Given the description of an element on the screen output the (x, y) to click on. 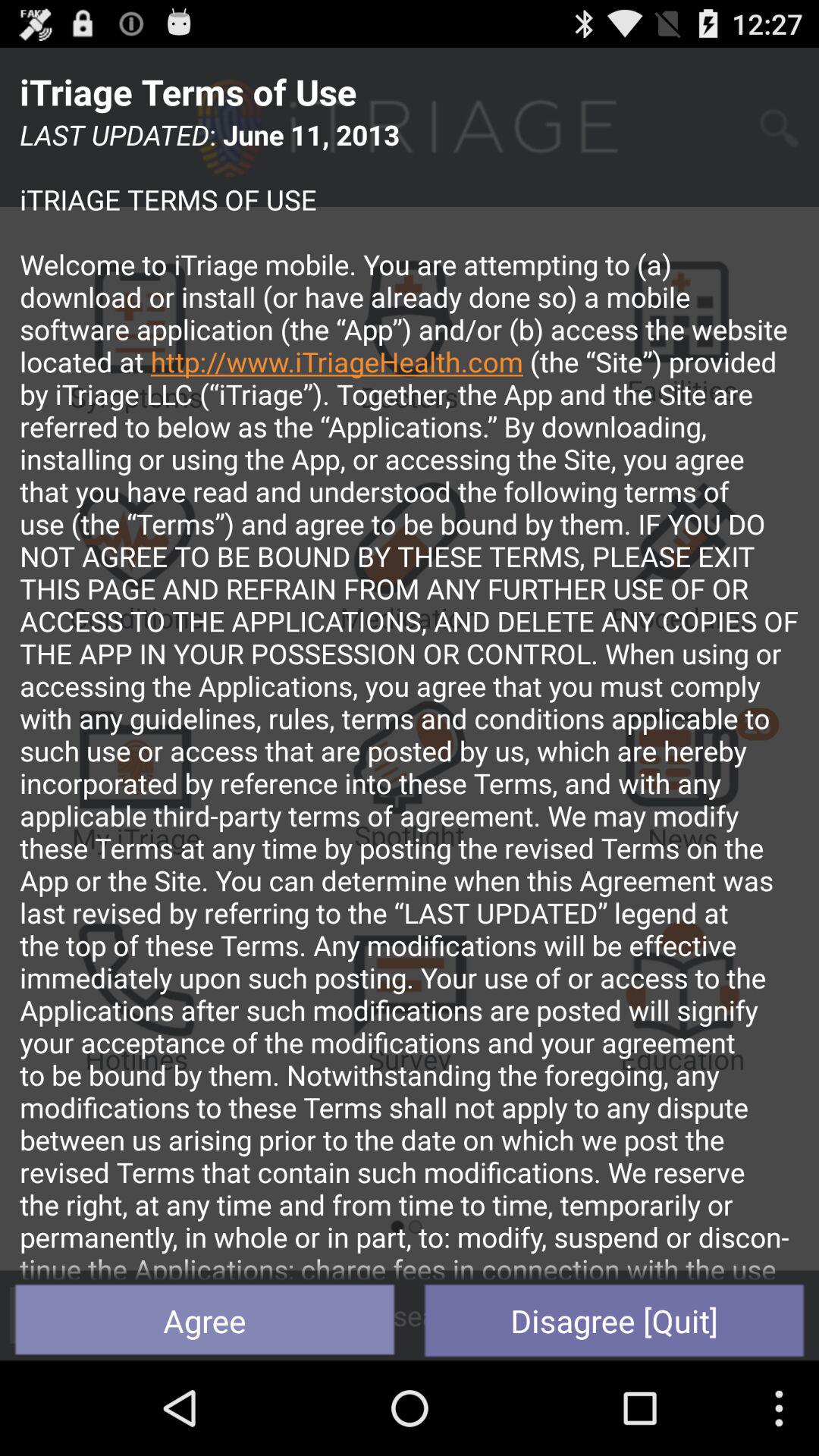
press the icon above agree button (409, 698)
